Given the description of an element on the screen output the (x, y) to click on. 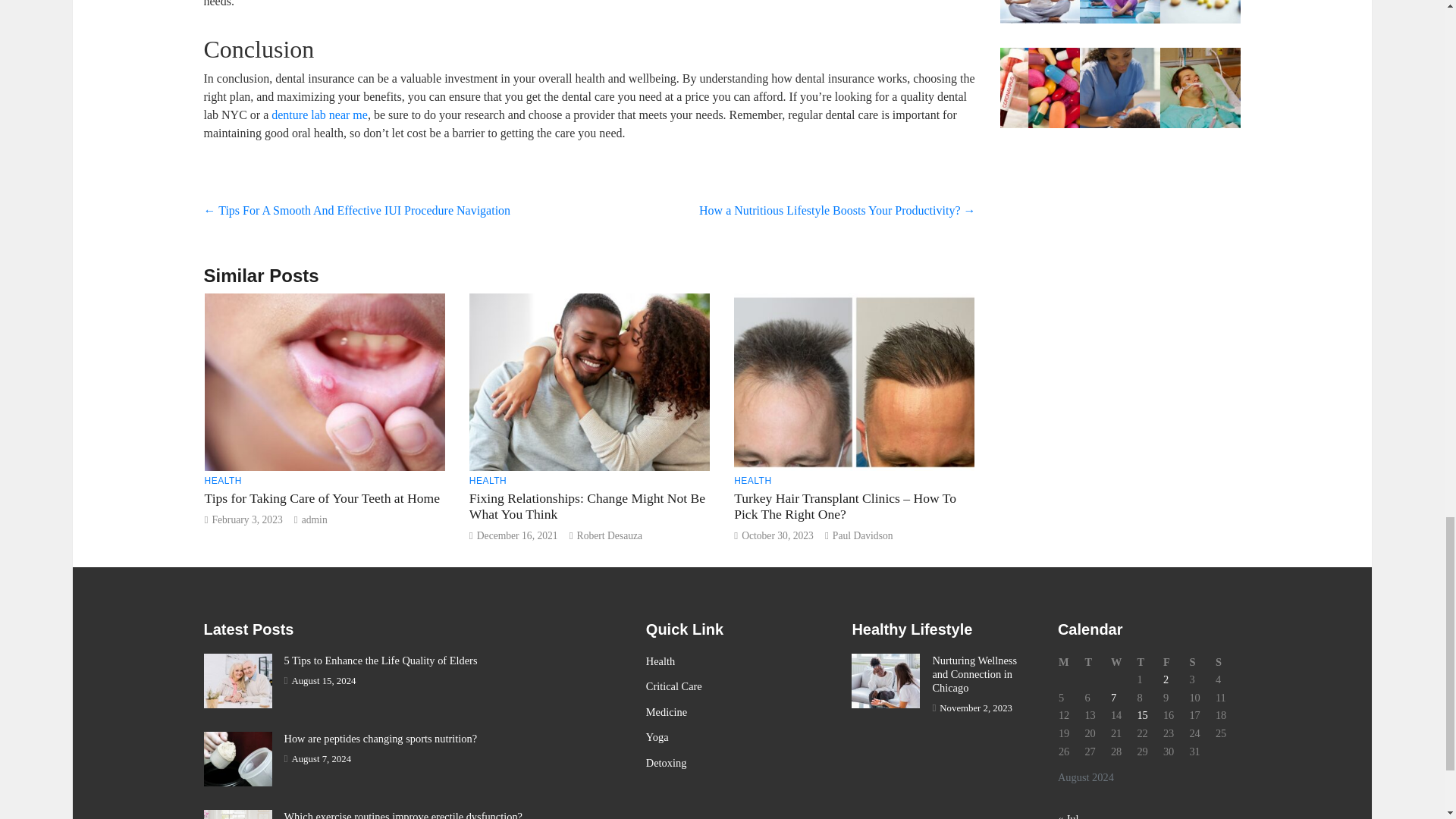
Paul Davidson (862, 535)
denture lab near me (319, 114)
Tuesday (1096, 662)
Monday (1071, 662)
Sunday (1227, 662)
Tips for Taking Care of Your Teeth at Home (322, 498)
HEALTH (752, 480)
Friday (1175, 662)
October 30, 2023 (777, 535)
Robert Desauza (609, 535)
